Given the description of an element on the screen output the (x, y) to click on. 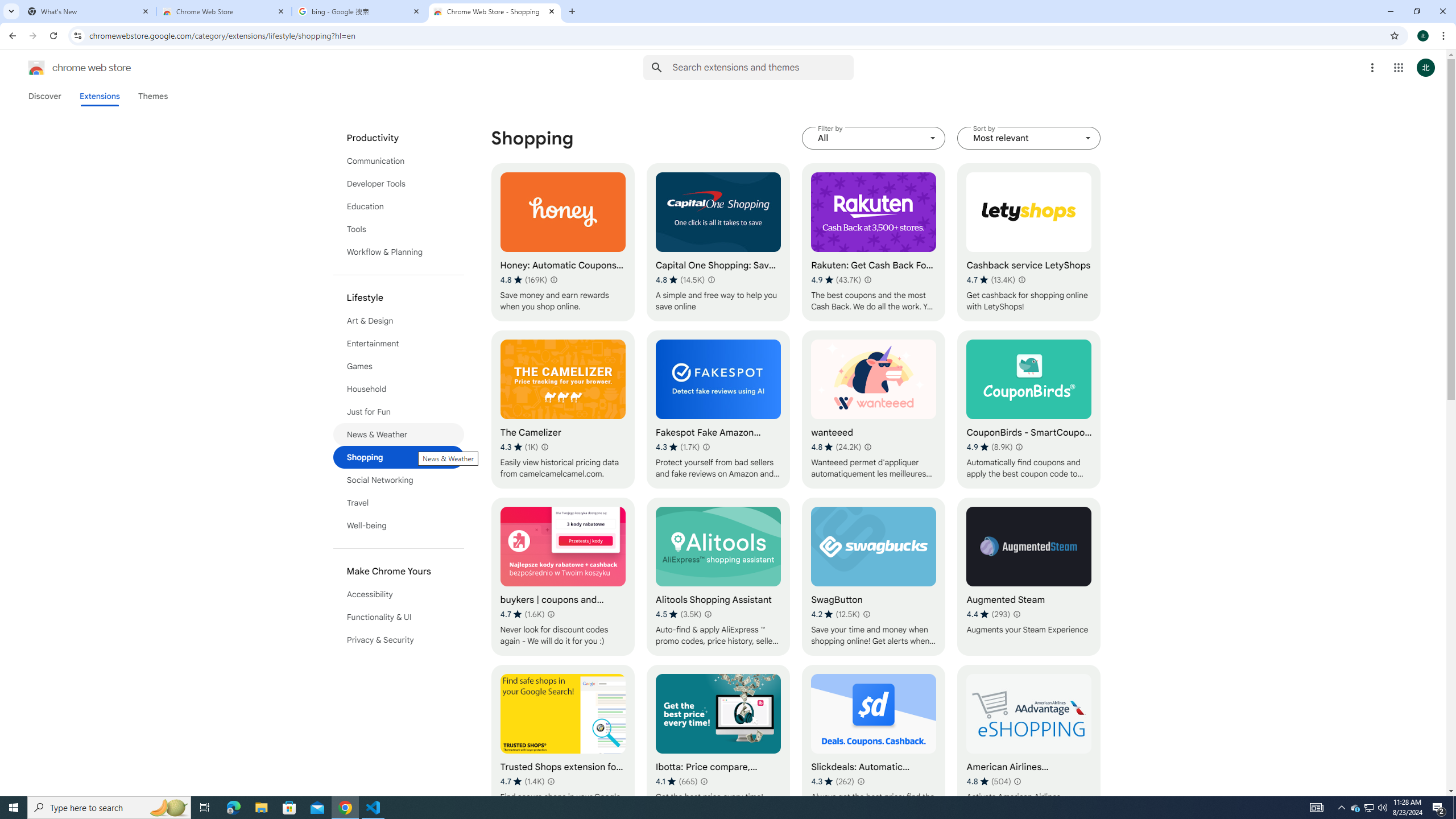
Search input (762, 67)
Learn more about results and reviews "SwagButton" (866, 613)
Rakuten: Get Cash Back For Shopping (874, 241)
Workflow & Planning (398, 251)
Average rating 4.9 out of 5 stars. 8.9K ratings. (989, 446)
News & Weather (398, 434)
Average rating 4.7 out of 5 stars. 1.4K ratings. (521, 781)
Art & Design (398, 320)
Just for Fun (398, 411)
The Camelizer (562, 409)
Average rating 4.2 out of 5 stars. 12.5K ratings. (835, 613)
